Given the description of an element on the screen output the (x, y) to click on. 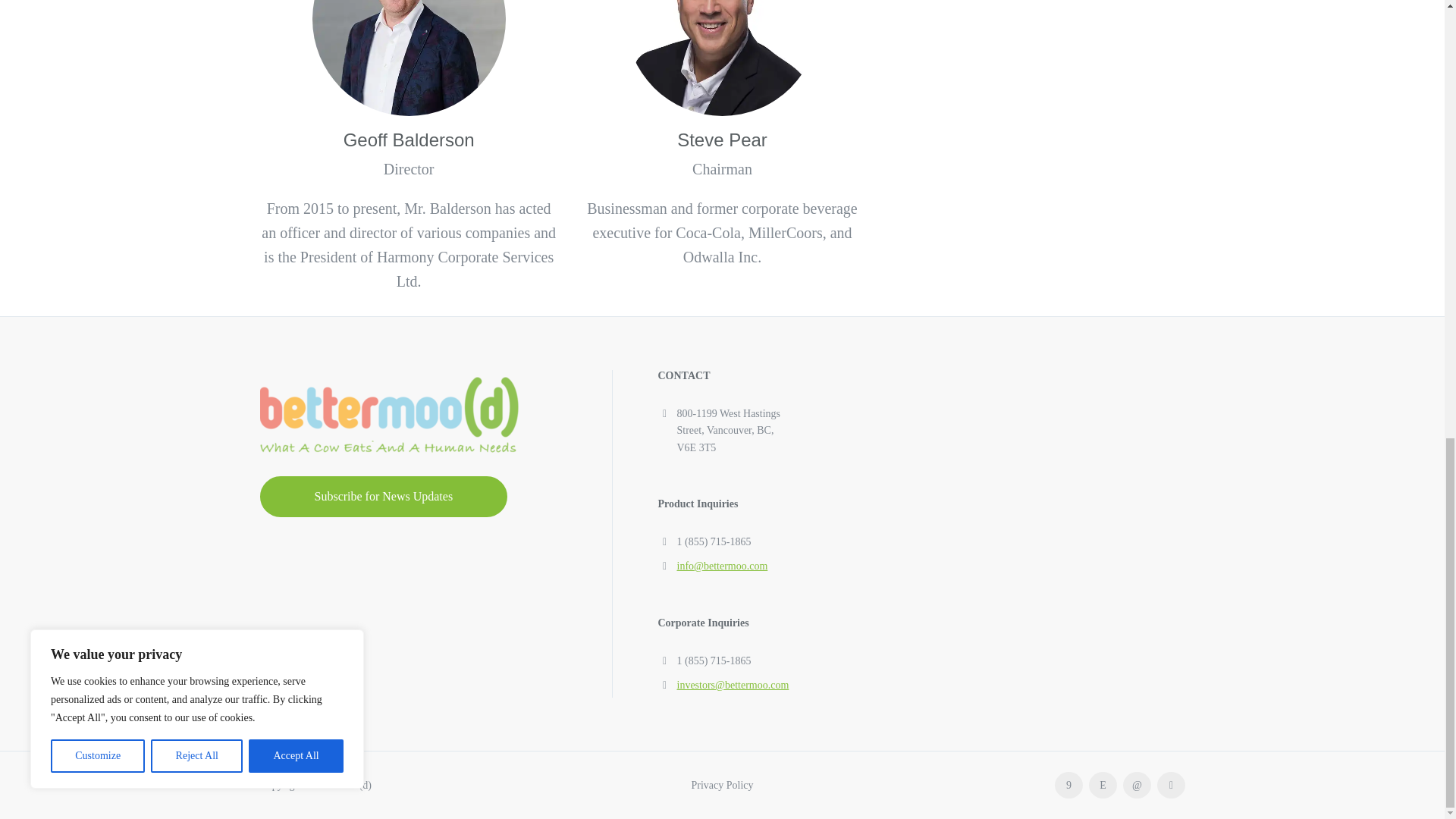
Subscribe for News Updates (382, 495)
Facebook (1067, 785)
Instagram (1102, 785)
Linkedin (1136, 785)
